Given the description of an element on the screen output the (x, y) to click on. 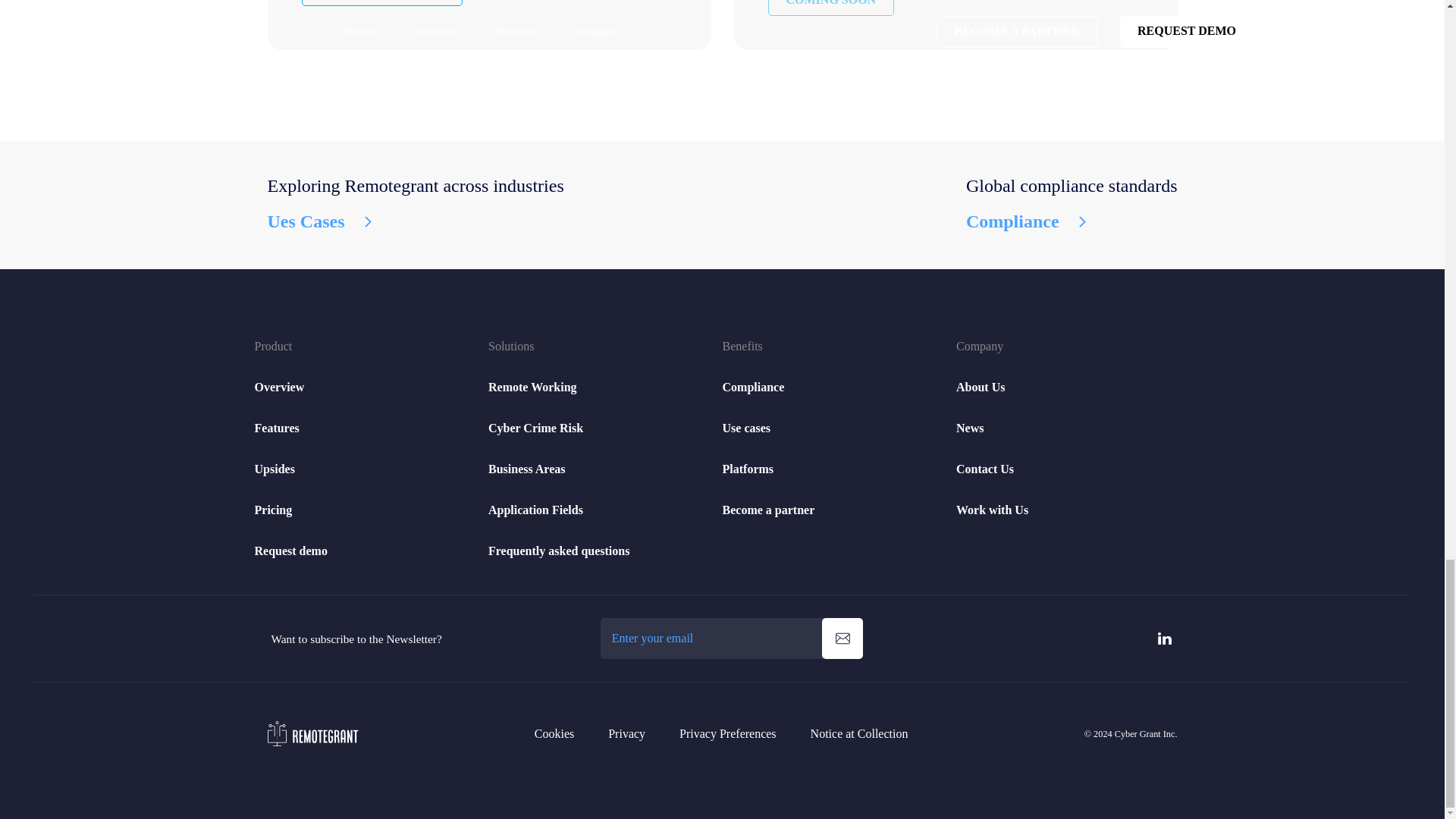
Work with Us (991, 509)
Frequently asked questions (557, 550)
Cookies (553, 733)
Upsides (274, 468)
Compliance (753, 386)
Become a partner (767, 509)
Overview (279, 386)
Privacy Preferences (727, 733)
COMING SOON (830, 7)
Remote Working (531, 386)
News (970, 427)
Notice at Collection (859, 733)
Ues Cases (414, 221)
Features (276, 427)
BECOME A PARTNER (382, 2)
